Given the description of an element on the screen output the (x, y) to click on. 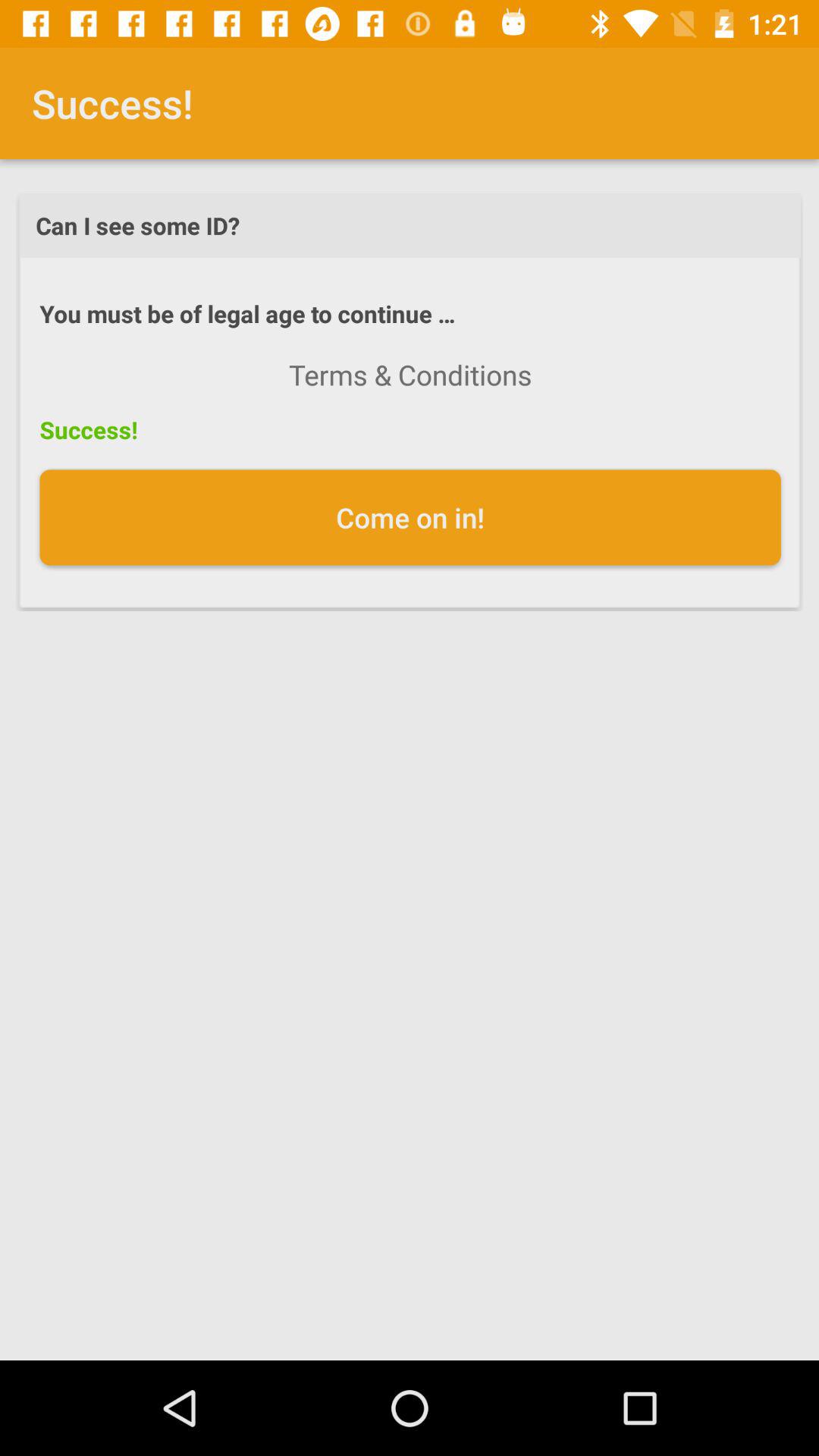
press come on in! (409, 517)
